Given the description of an element on the screen output the (x, y) to click on. 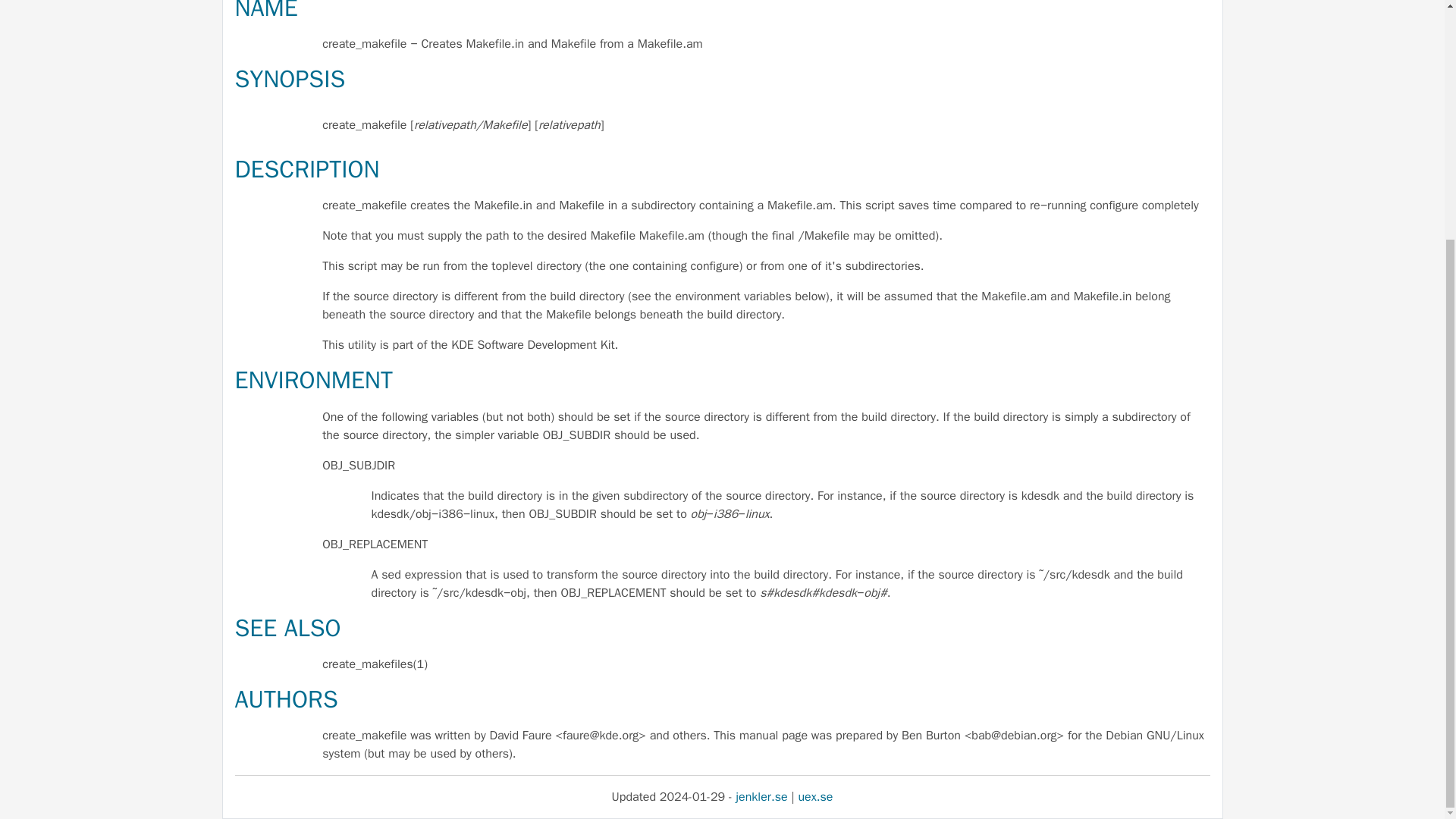
Jenkler IT AB (761, 796)
SEE ALSO (287, 627)
AUTHORS (285, 698)
jenkler.se (761, 796)
ENVIRONMENT (313, 379)
NAME (266, 11)
DESCRIPTION (307, 169)
User EXperience (814, 796)
uex.se (814, 796)
SYNOPSIS (290, 79)
